Given the description of an element on the screen output the (x, y) to click on. 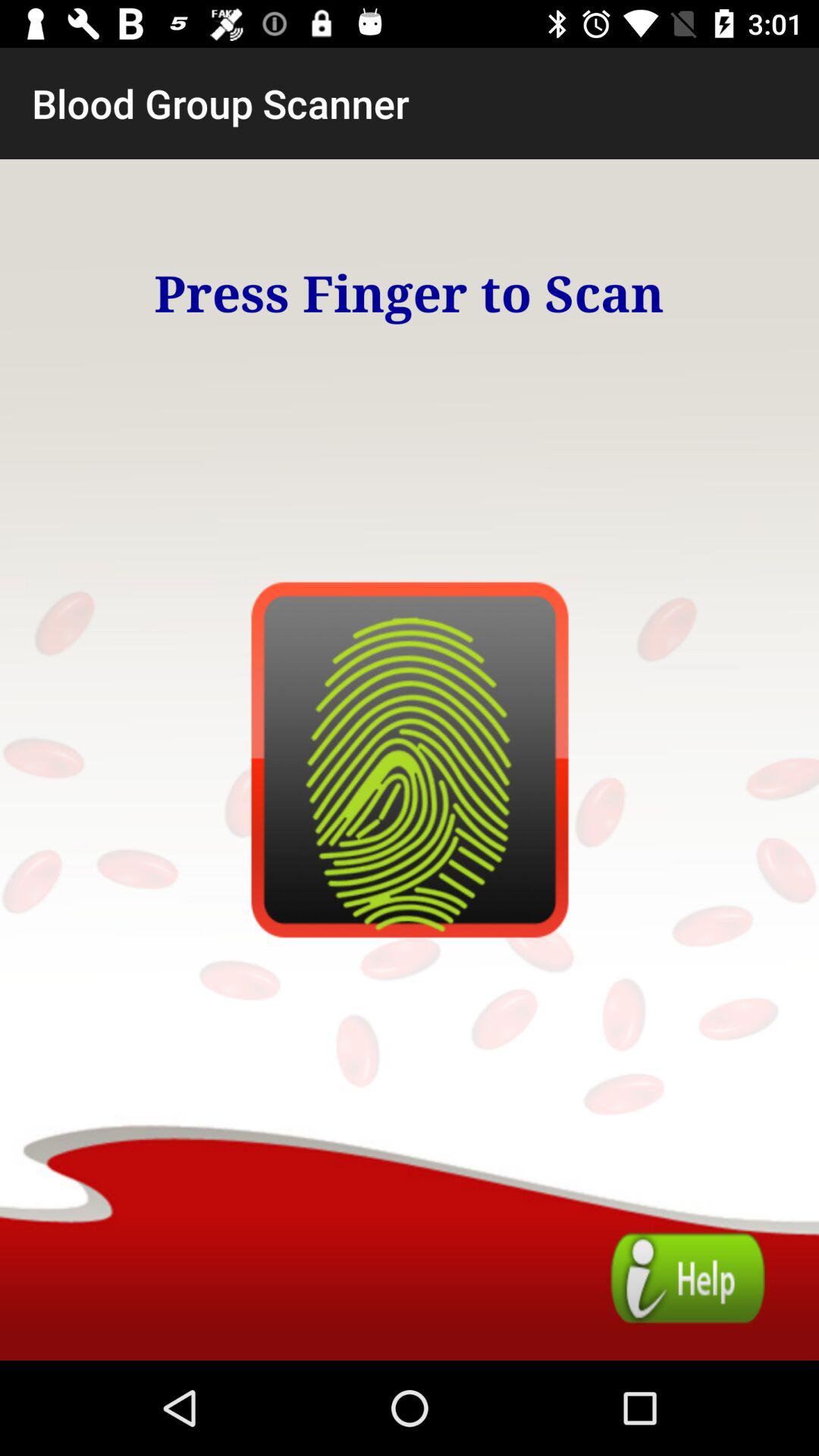
guide (687, 1278)
